Given the description of an element on the screen output the (x, y) to click on. 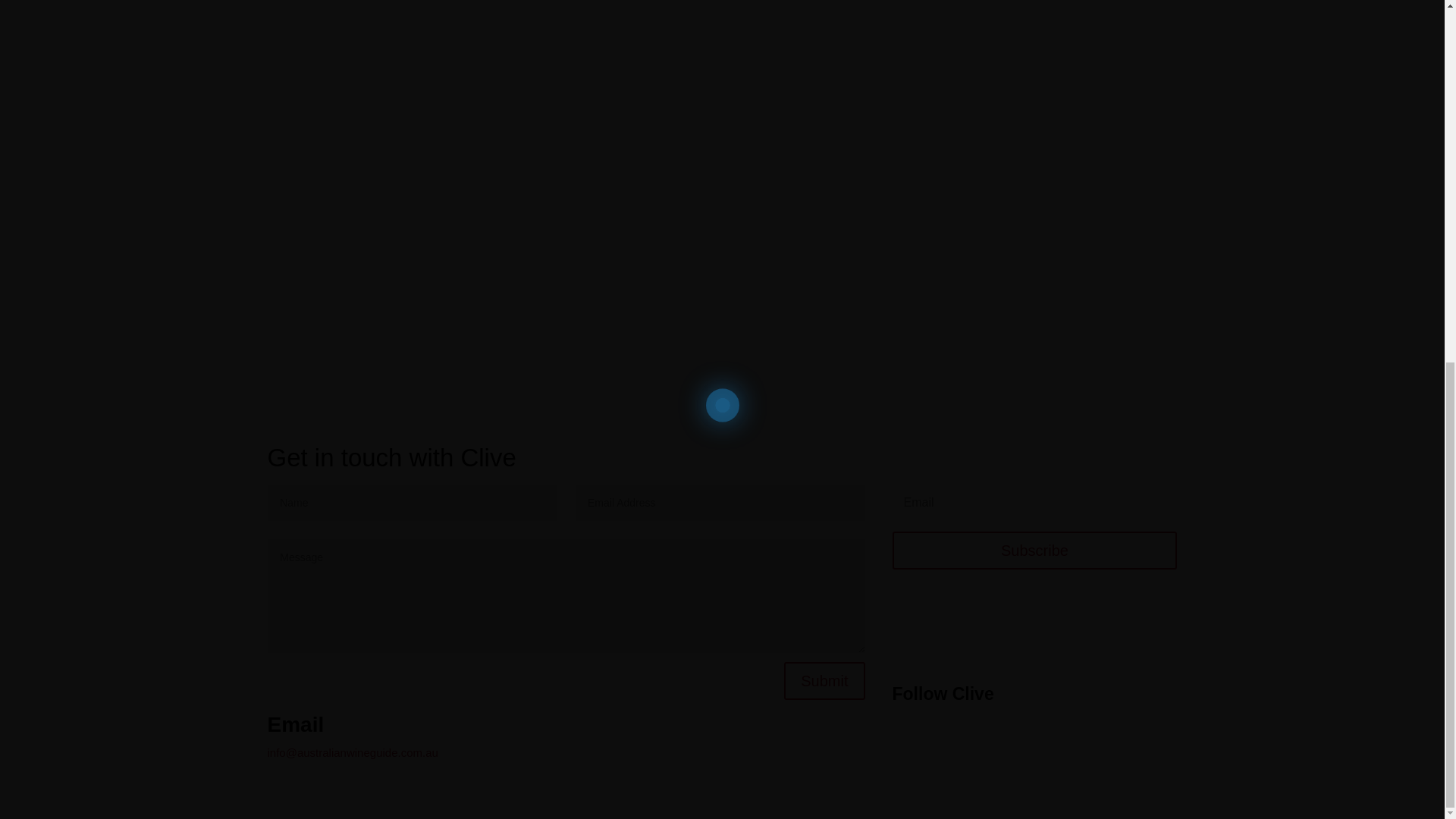
Submit (824, 680)
Follow on Facebook (1104, 736)
Follow on Instagram (1164, 736)
Subscribe (1033, 550)
Follow on X (1134, 736)
Privacy Policy (1141, 776)
